Given the description of an element on the screen output the (x, y) to click on. 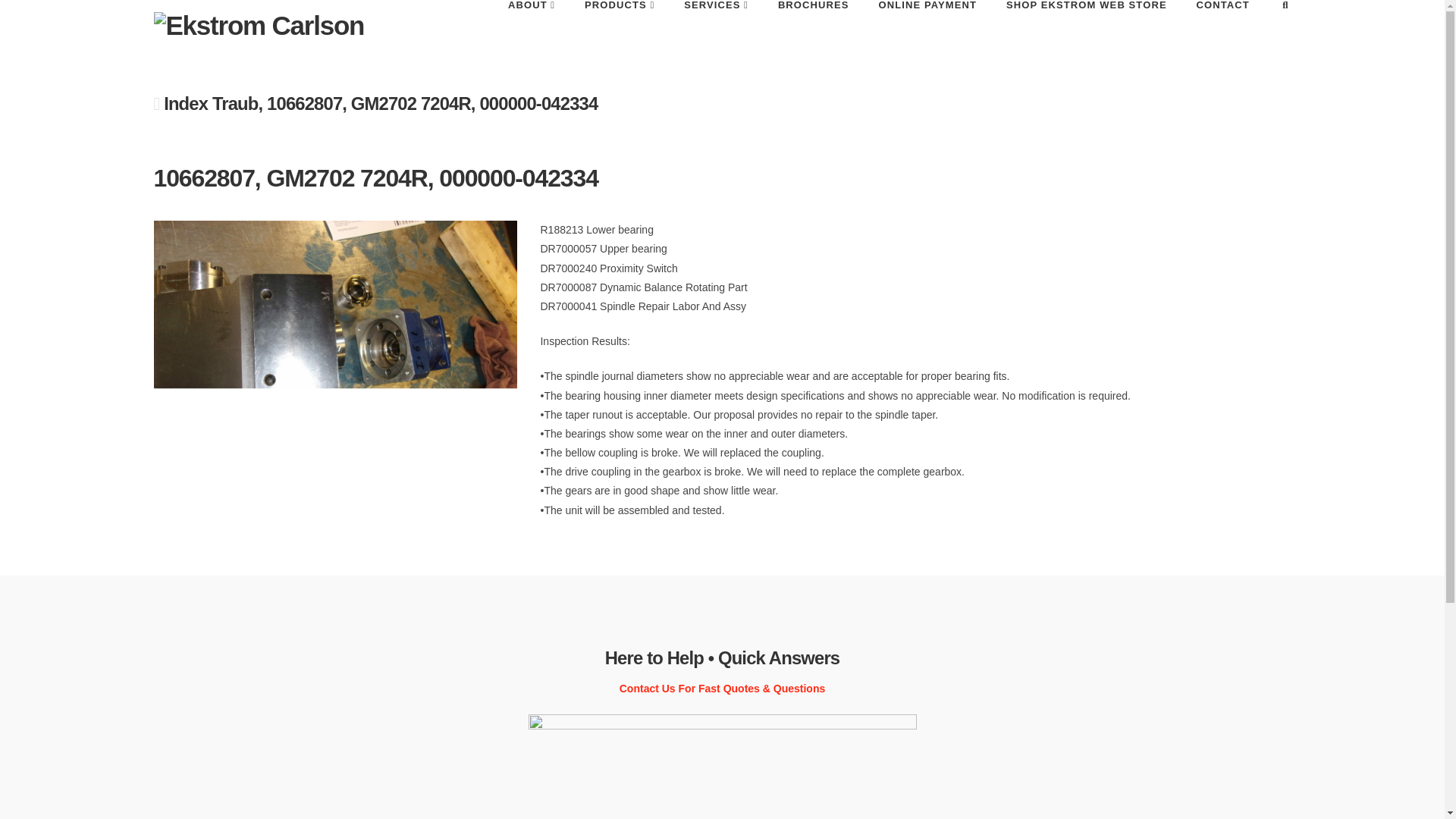
BROCHURES (812, 32)
PRODUCTS (618, 32)
ABOUT (531, 32)
ONLINE PAYMENT (927, 32)
CONTACT (1221, 32)
SHOP EKSTROM WEB STORE (1085, 32)
SERVICES (715, 32)
